Given the description of an element on the screen output the (x, y) to click on. 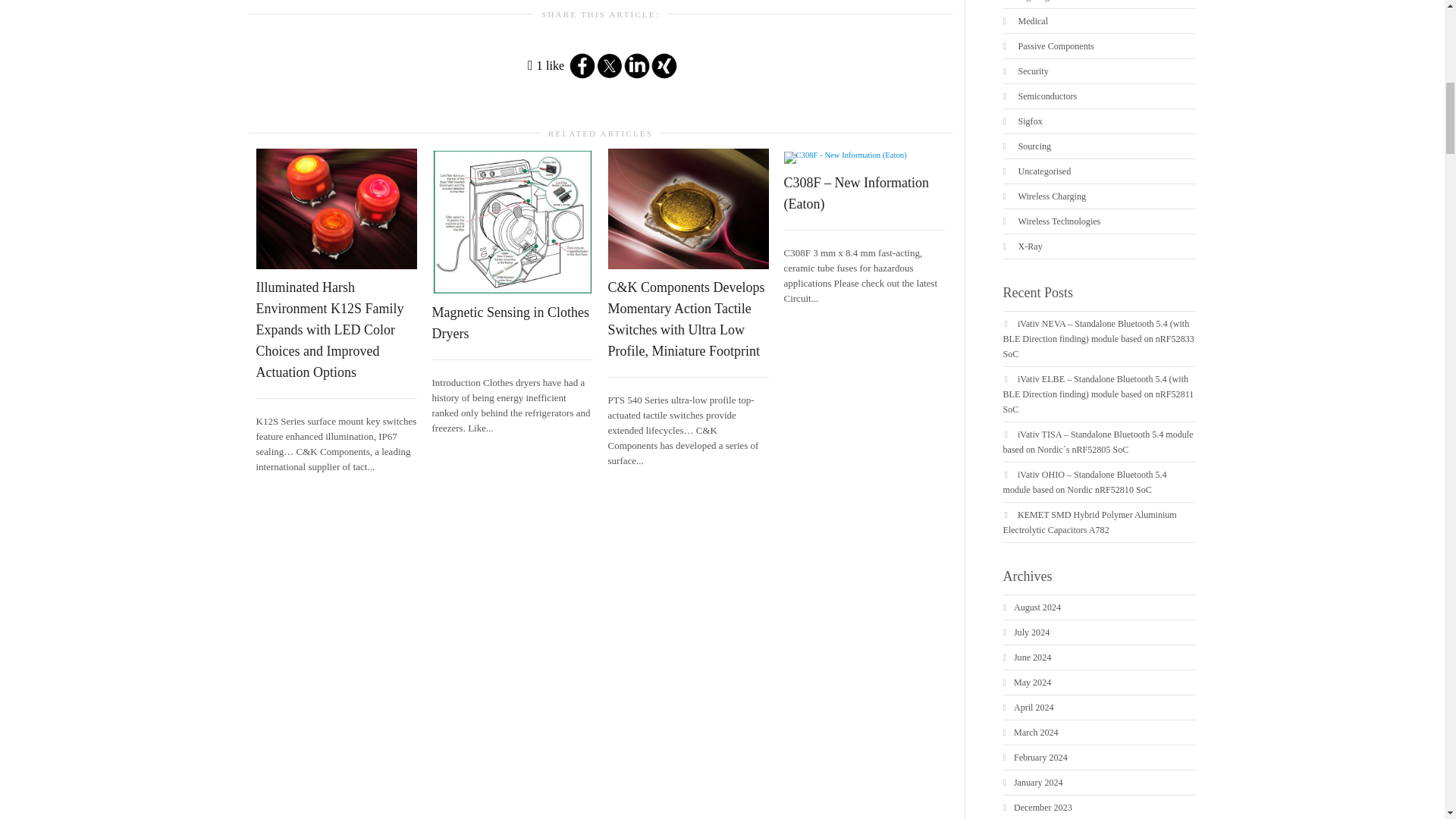
Like this (545, 65)
Magnetic Sensing in Clothes Dryers (510, 322)
1 like (545, 65)
